Given the description of an element on the screen output the (x, y) to click on. 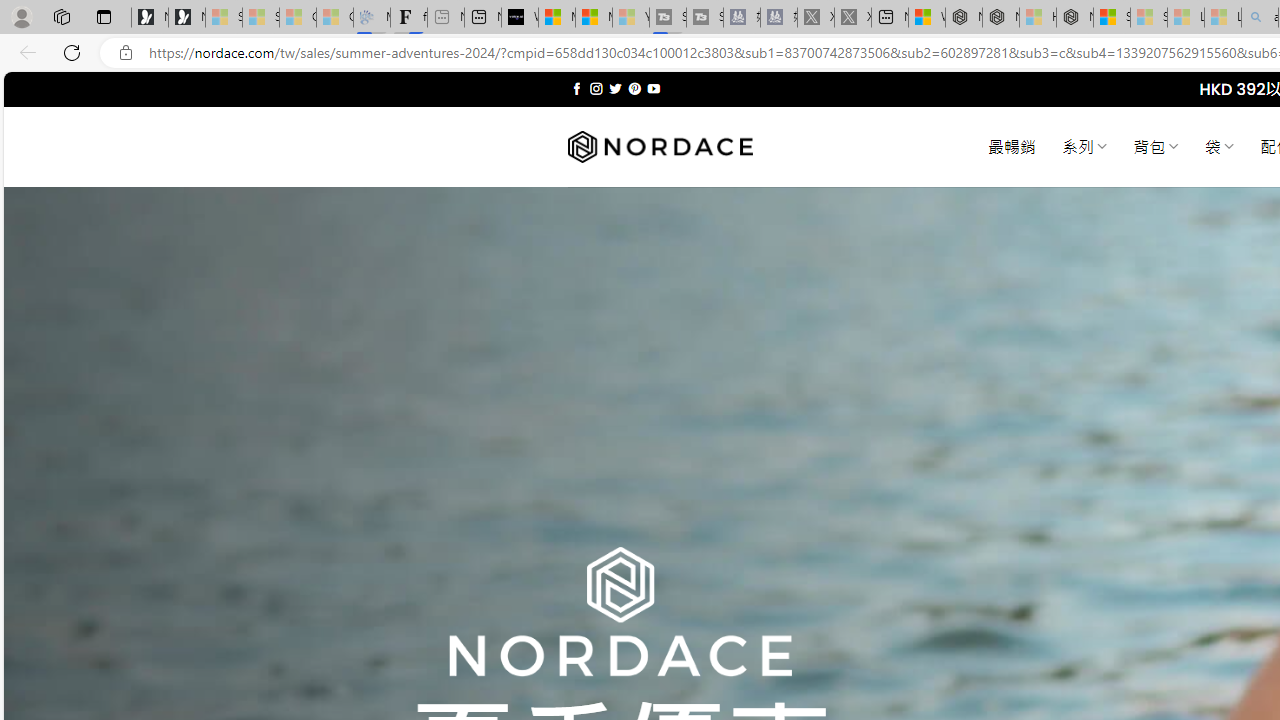
Follow on Facebook (576, 88)
Follow on Pinterest (634, 88)
